Given the description of an element on the screen output the (x, y) to click on. 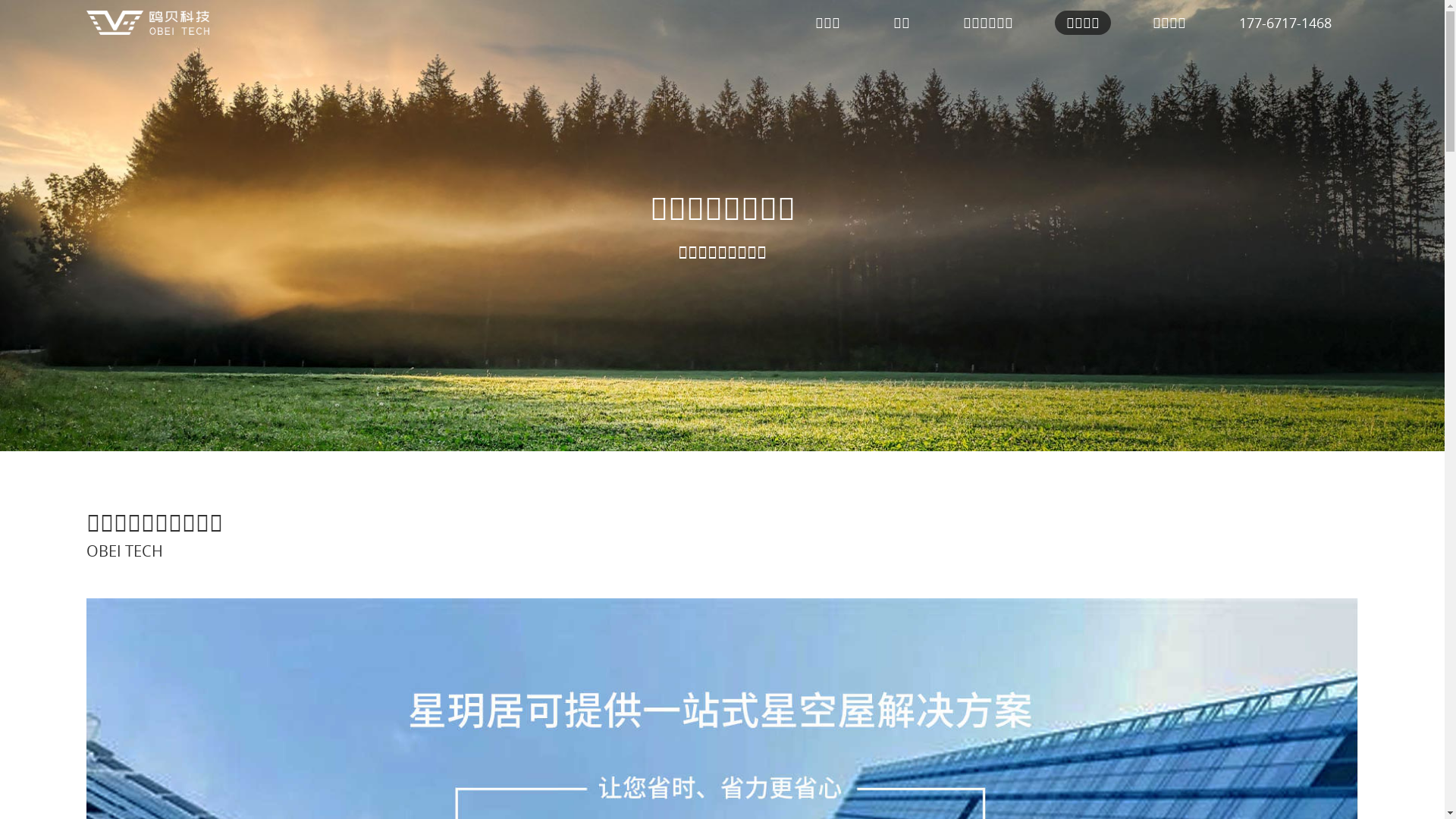
177-6717-1468 Element type: text (1285, 22)
